Given the description of an element on the screen output the (x, y) to click on. 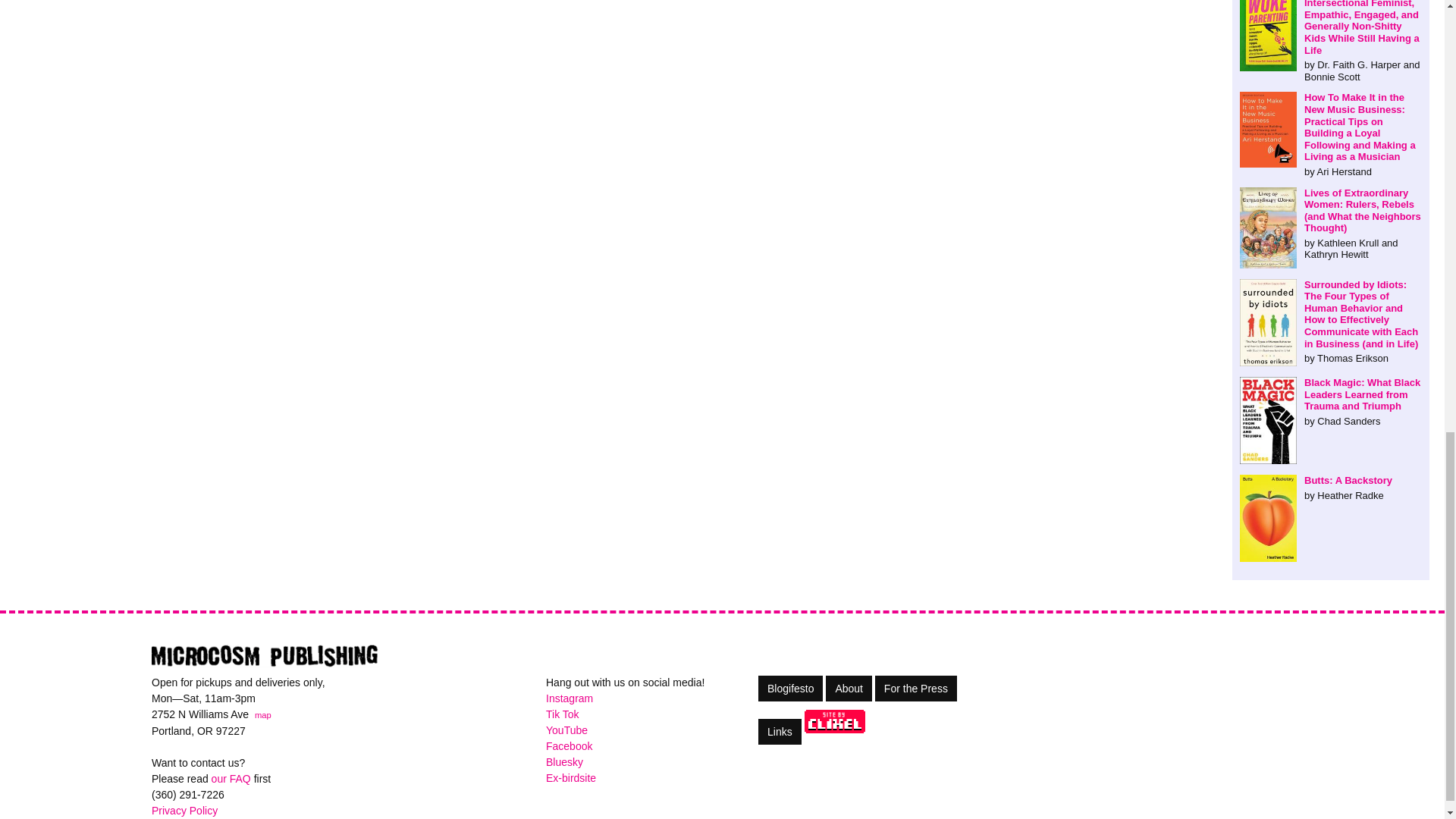
Butts: A Backstory (1331, 488)
